Given the description of an element on the screen output the (x, y) to click on. 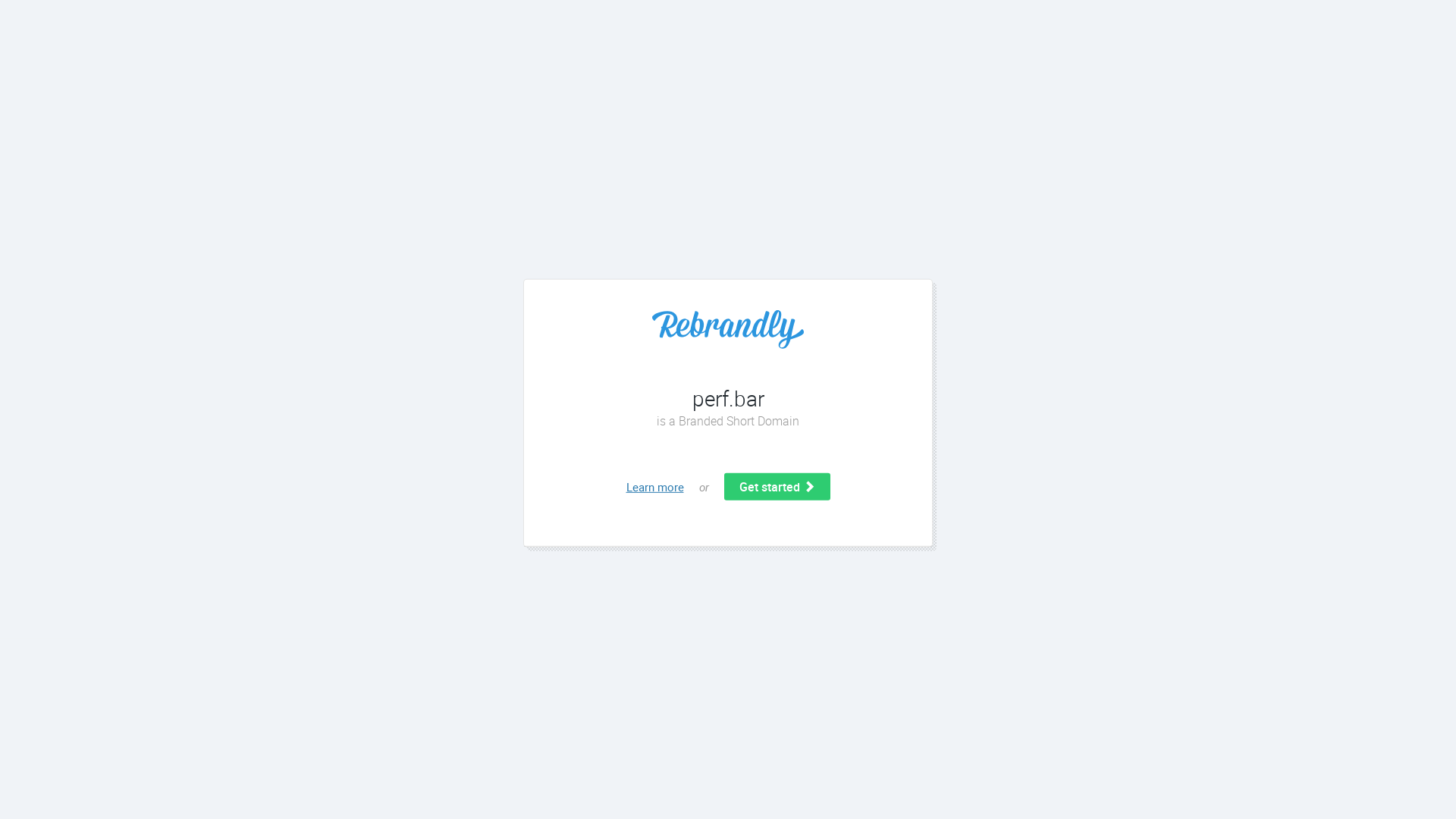
Learn more Element type: text (655, 486)
Get started Element type: text (776, 486)
